Given the description of an element on the screen output the (x, y) to click on. 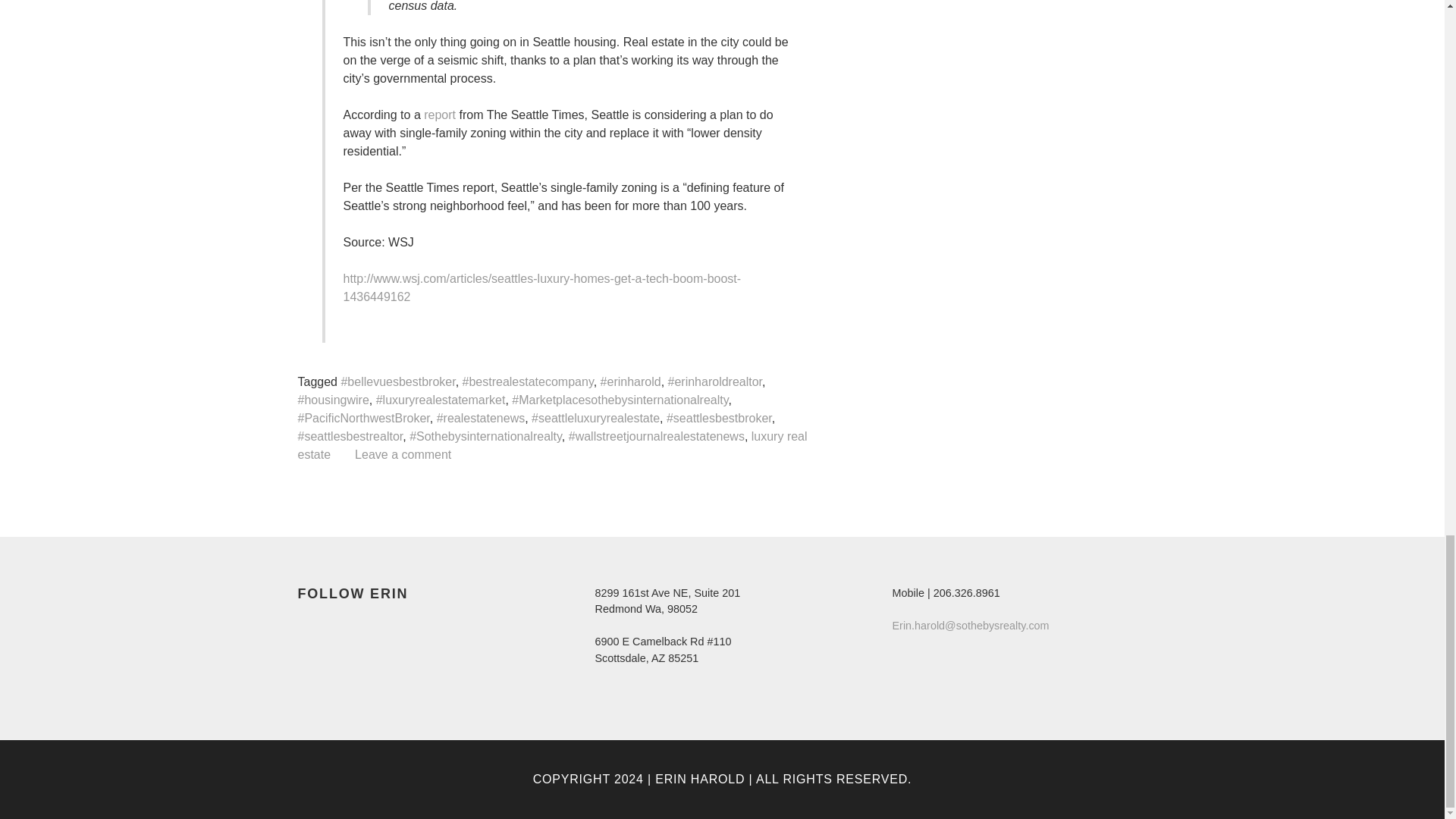
luxury real estate (551, 445)
report (439, 114)
Leave a comment (403, 454)
Facebook (309, 624)
Twitter (336, 624)
LinkedIn (363, 624)
